Given the description of an element on the screen output the (x, y) to click on. 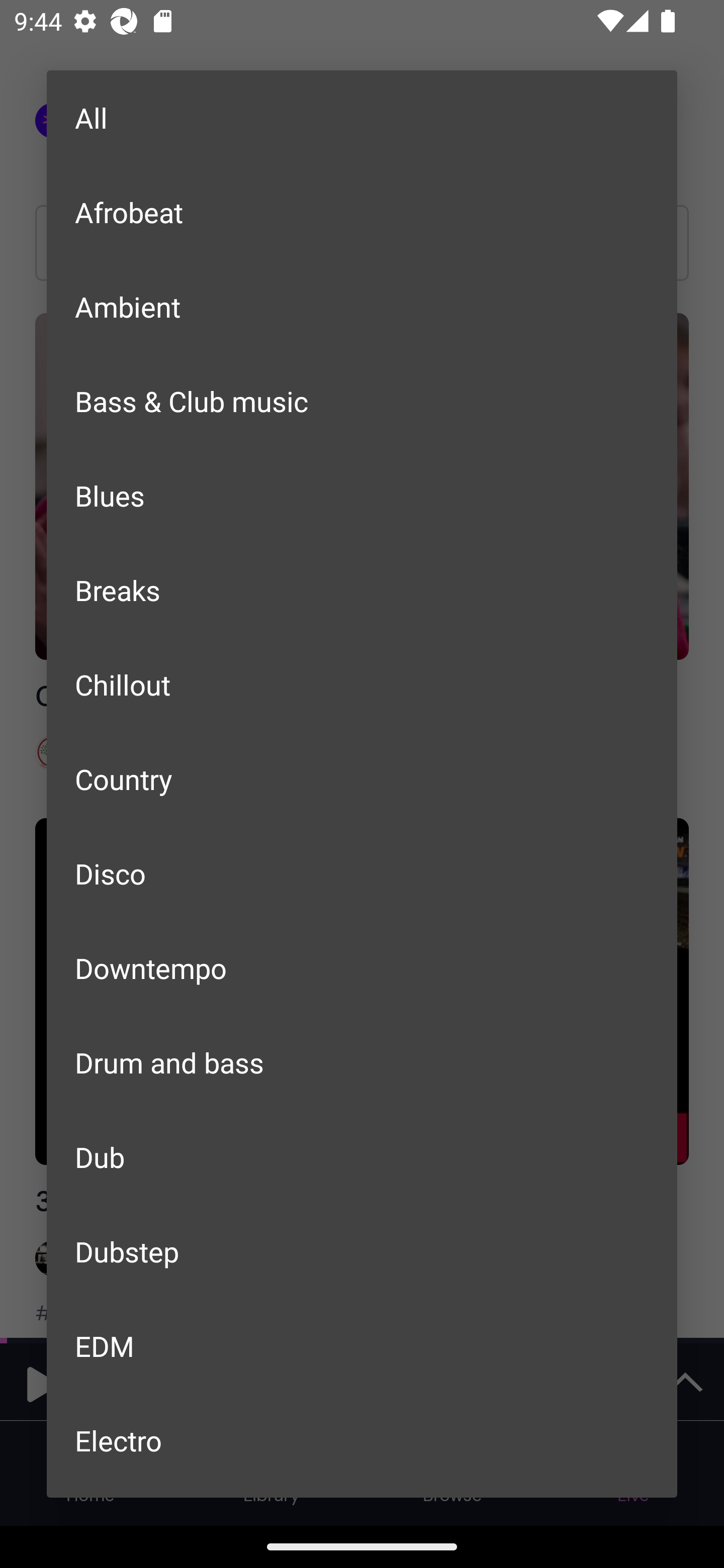
All (361, 117)
Afrobeat (361, 211)
Ambient (361, 306)
Bass & Club music (361, 401)
Blues (361, 495)
Breaks (361, 589)
Chillout (361, 684)
Country (361, 779)
Disco (361, 873)
Downtempo (361, 967)
Drum and bass (361, 1062)
Dub (361, 1157)
Dubstep (361, 1251)
EDM (361, 1345)
Electro (361, 1440)
